Given the description of an element on the screen output the (x, y) to click on. 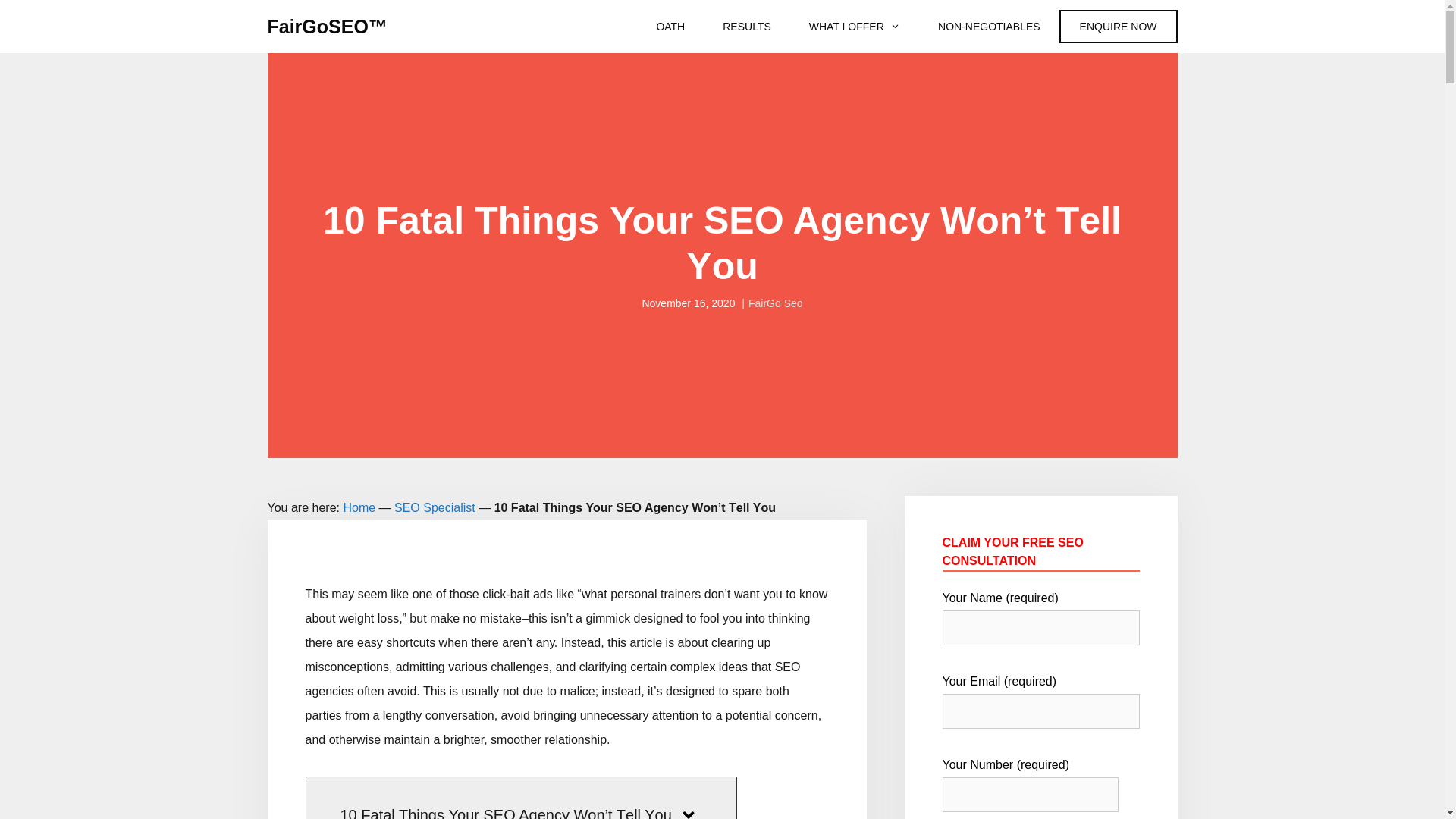
RESULTS Element type: text (746, 26)
ENQUIRE NOW Element type: text (1118, 26)
OATH Element type: text (670, 26)
WHAT I OFFER Element type: text (854, 26)
FairGo Seo Element type: text (775, 303)
NON-NEGOTIABLES Element type: text (989, 26)
SEO Specialist Element type: text (434, 507)
Home Element type: text (358, 507)
